Given the description of an element on the screen output the (x, y) to click on. 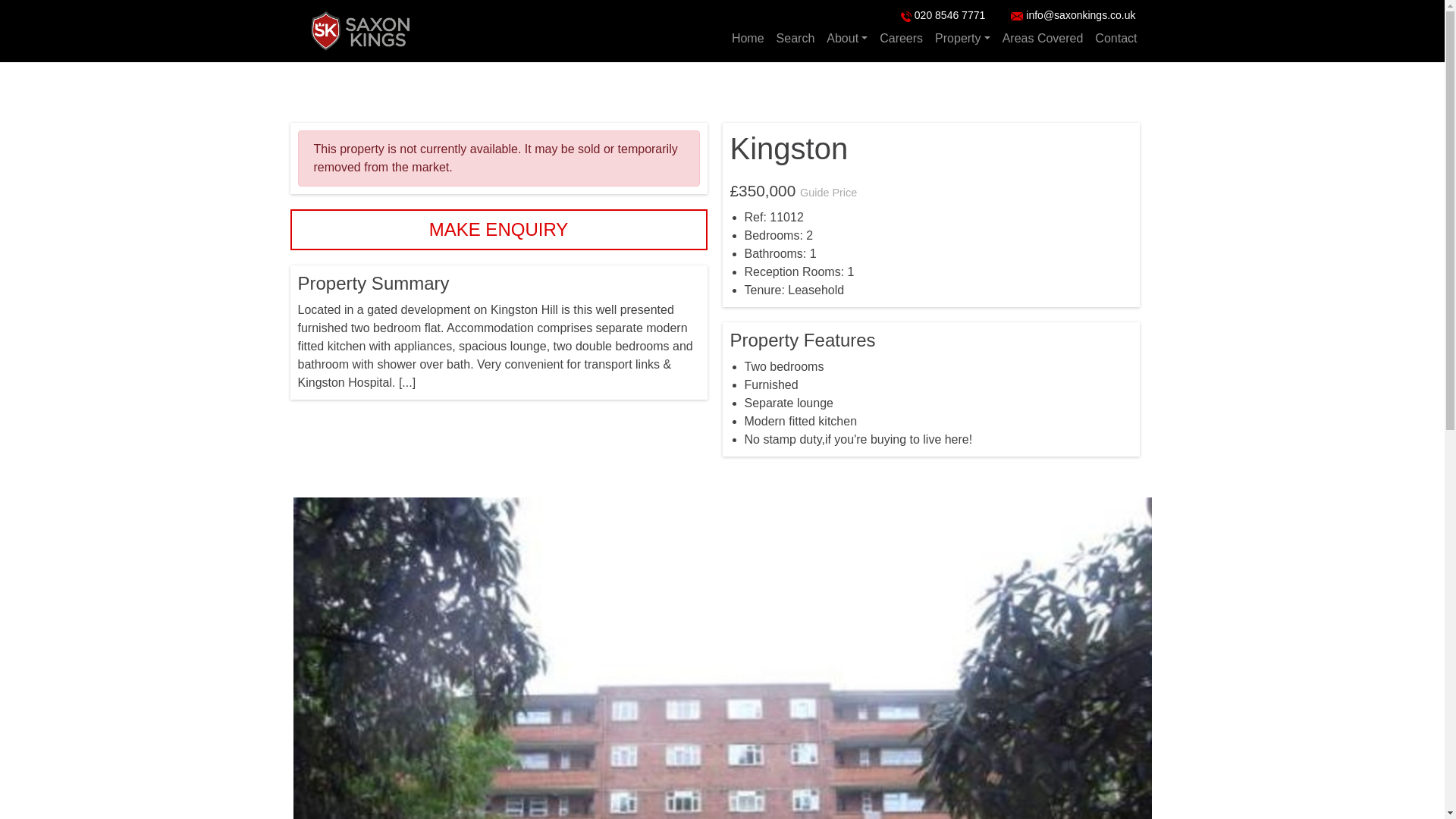
Home (747, 38)
Contact (1115, 38)
Search (795, 38)
Careers (900, 38)
Home (747, 38)
Areas Covered (1042, 38)
MAKE ENQUIRY (497, 229)
Careers (900, 38)
Property (961, 38)
Areas Covered (1042, 38)
Contact (1115, 38)
About (847, 38)
Search (795, 38)
Property (961, 38)
About (847, 38)
